Given the description of an element on the screen output the (x, y) to click on. 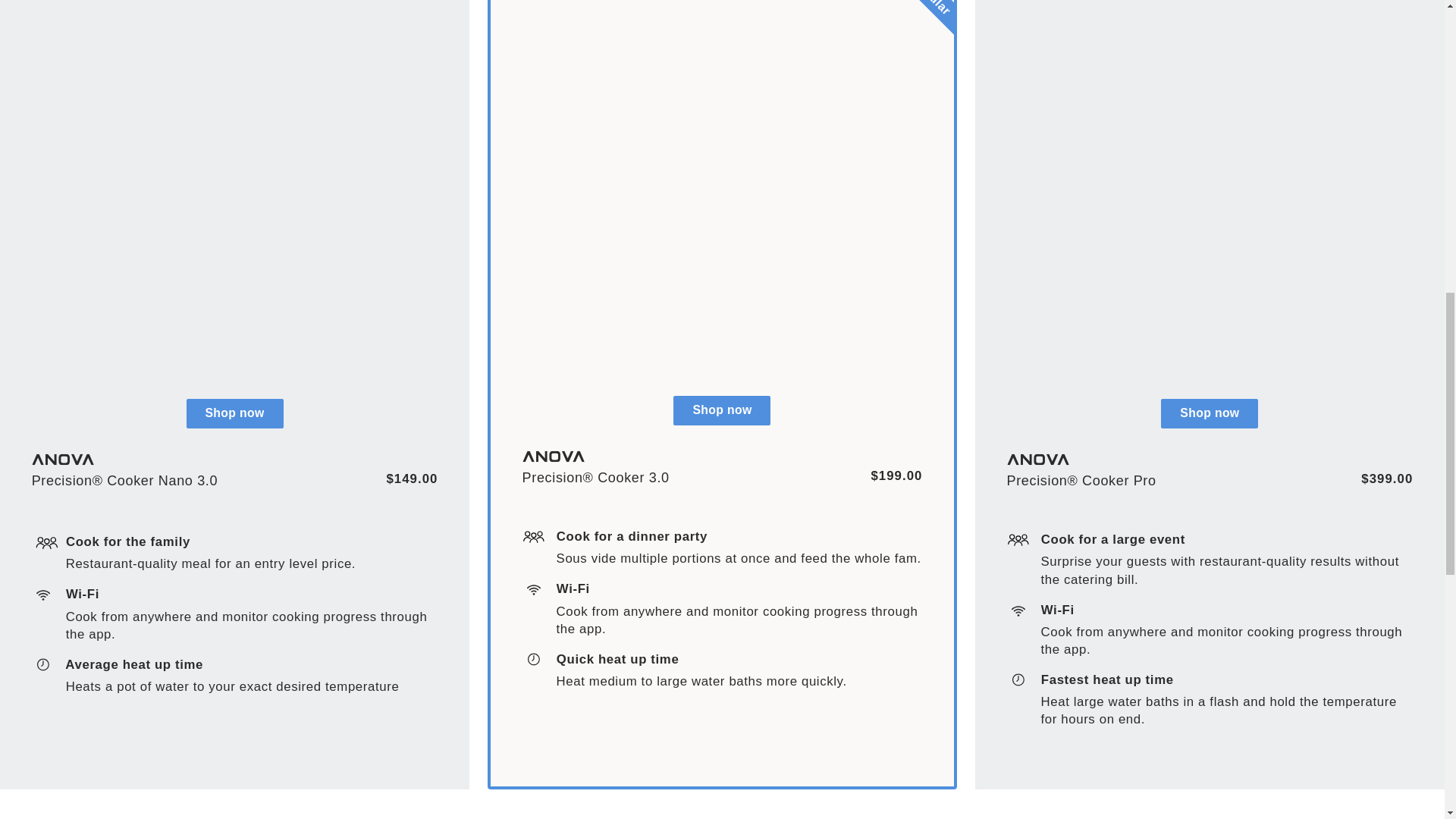
Group 4Created with Sketch. (46, 542)
Group 4Created with Sketch. (533, 536)
Group 2Created with Sketch. (1018, 679)
GroupCreated with Sketch. (43, 594)
GroupCreated with Sketch. (1018, 611)
Group 2Created with Sketch. (43, 664)
Group 2Created with Sketch. (533, 658)
Group 4Created with Sketch. (1018, 539)
GroupCreated with Sketch. (533, 589)
